Given the description of an element on the screen output the (x, y) to click on. 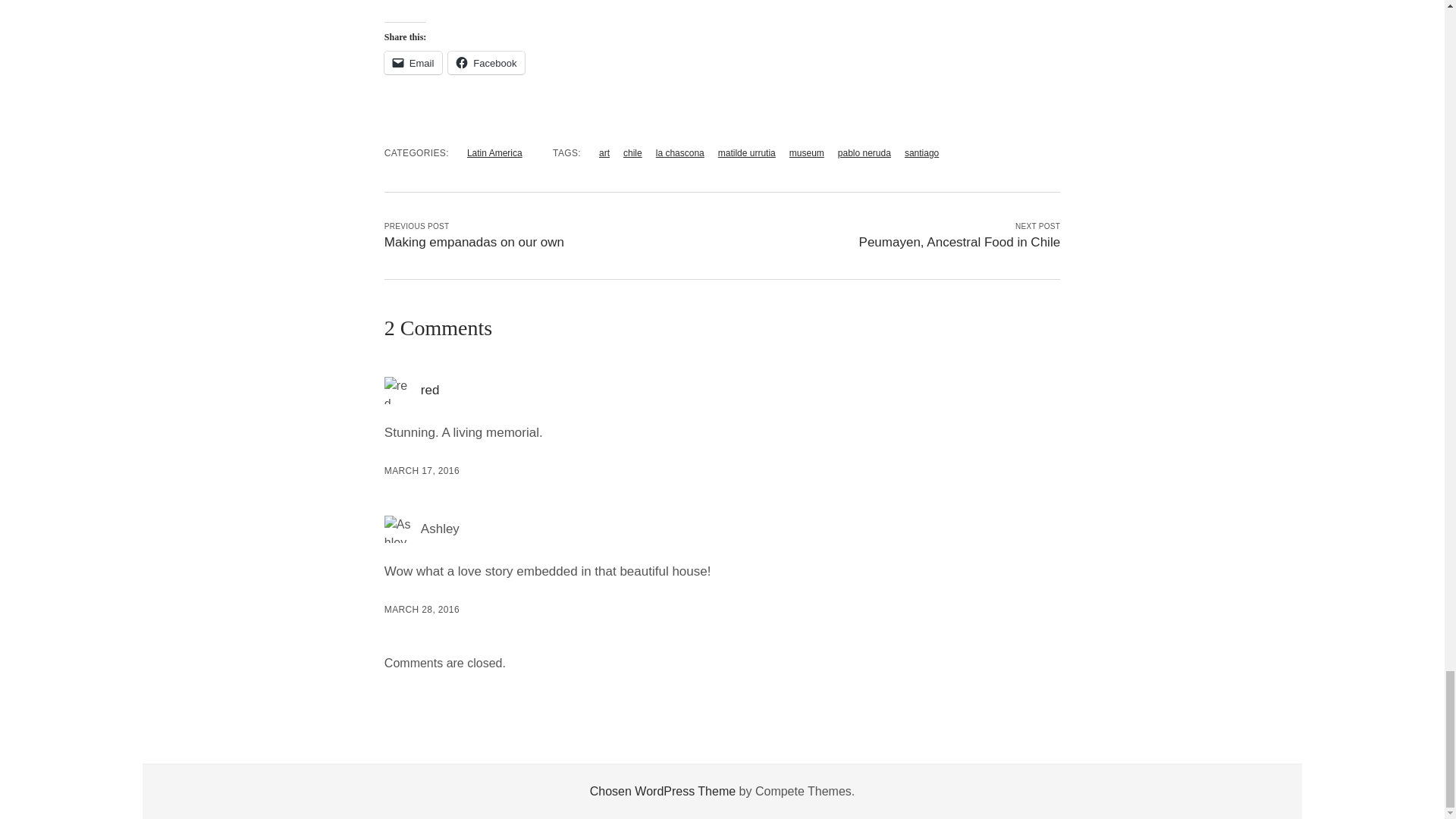
Making empanadas on our own (474, 242)
Click to share on Facebook (486, 62)
Facebook (486, 62)
matilde urrutia (746, 153)
art (604, 153)
View all posts tagged la chascona (680, 153)
View all posts tagged art (604, 153)
Latin America (494, 153)
Peumayen, Ancestral Food in Chile (960, 242)
santiago (921, 153)
